Given the description of an element on the screen output the (x, y) to click on. 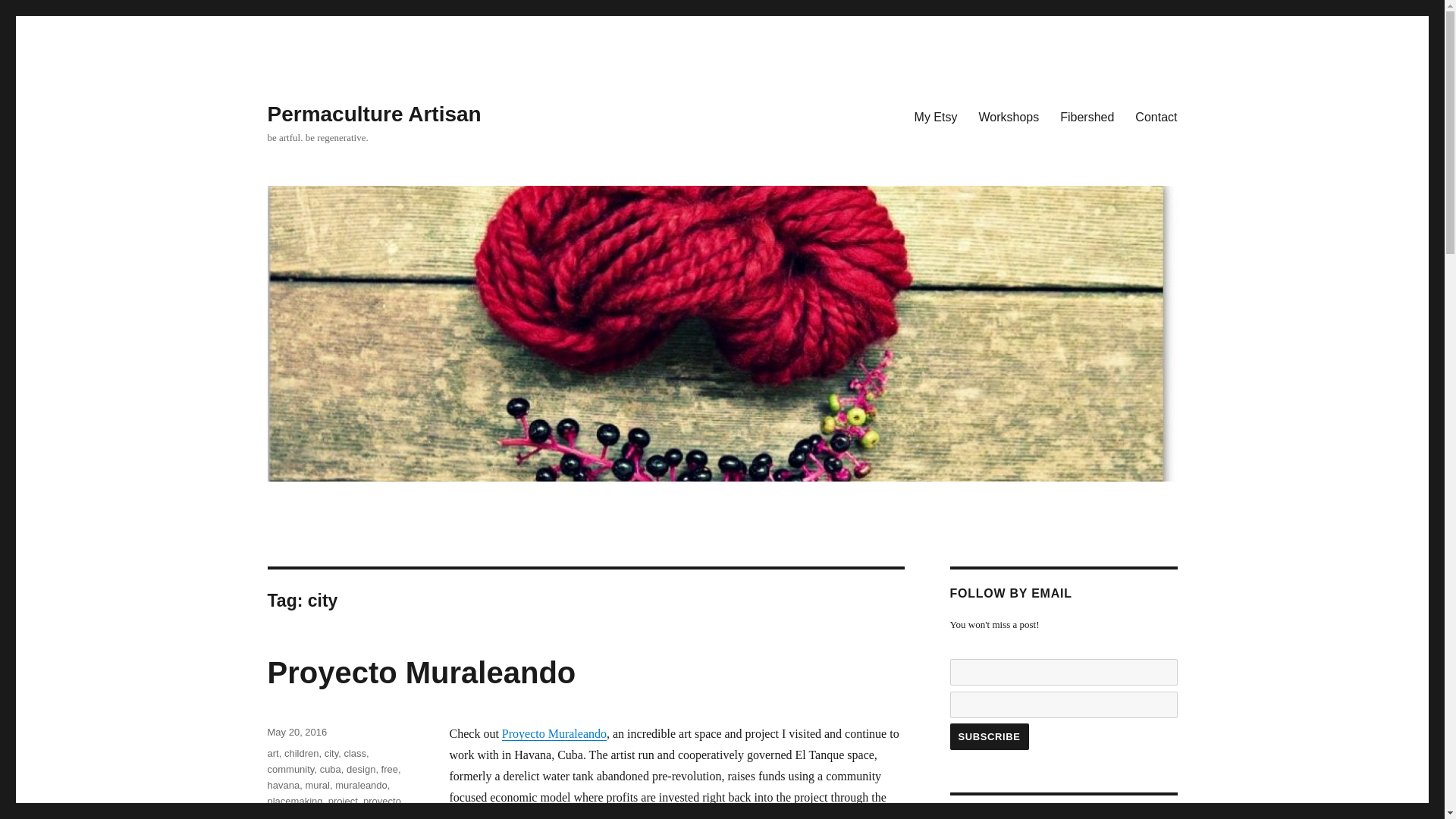
class (354, 753)
May 20, 2016 (296, 731)
city (331, 753)
Fibershed (1086, 116)
My Etsy (936, 116)
havana (282, 785)
Workshops (1008, 116)
children (300, 753)
cuba (330, 768)
Permaculture Artisan (373, 114)
